Given the description of an element on the screen output the (x, y) to click on. 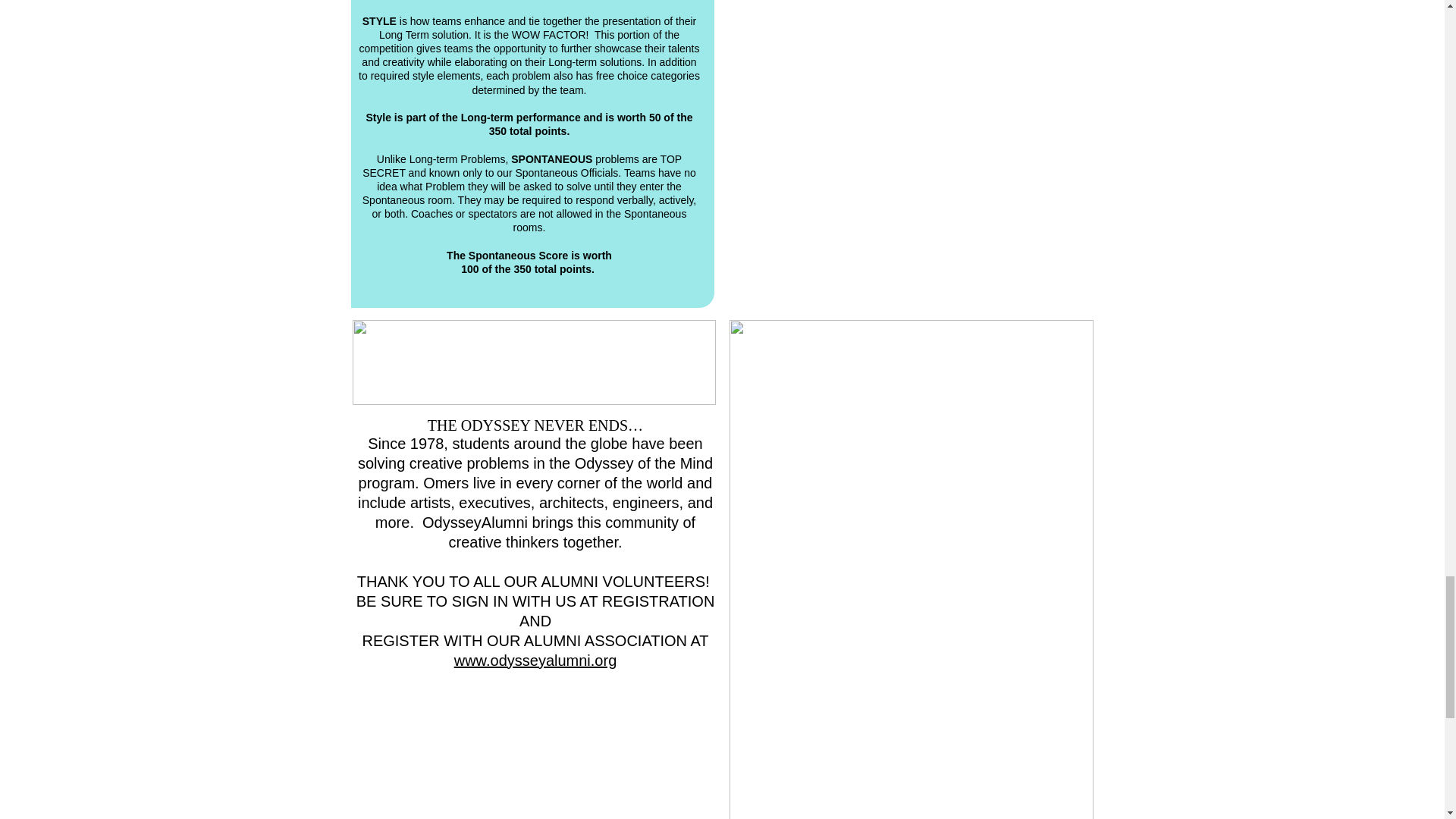
www.odysseyalumni.org (535, 660)
ALUMNI.png (533, 362)
